Given the description of an element on the screen output the (x, y) to click on. 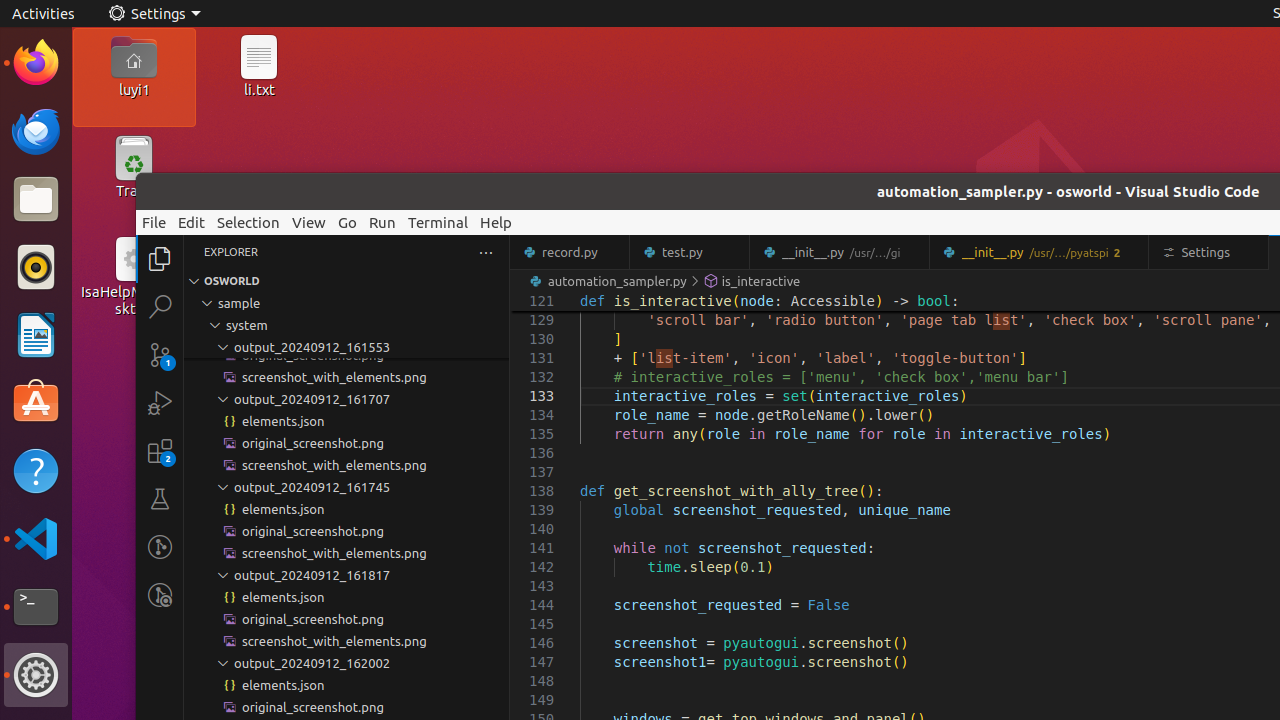
Firefox Web Browser Element type: push-button (36, 63)
